Given the description of an element on the screen output the (x, y) to click on. 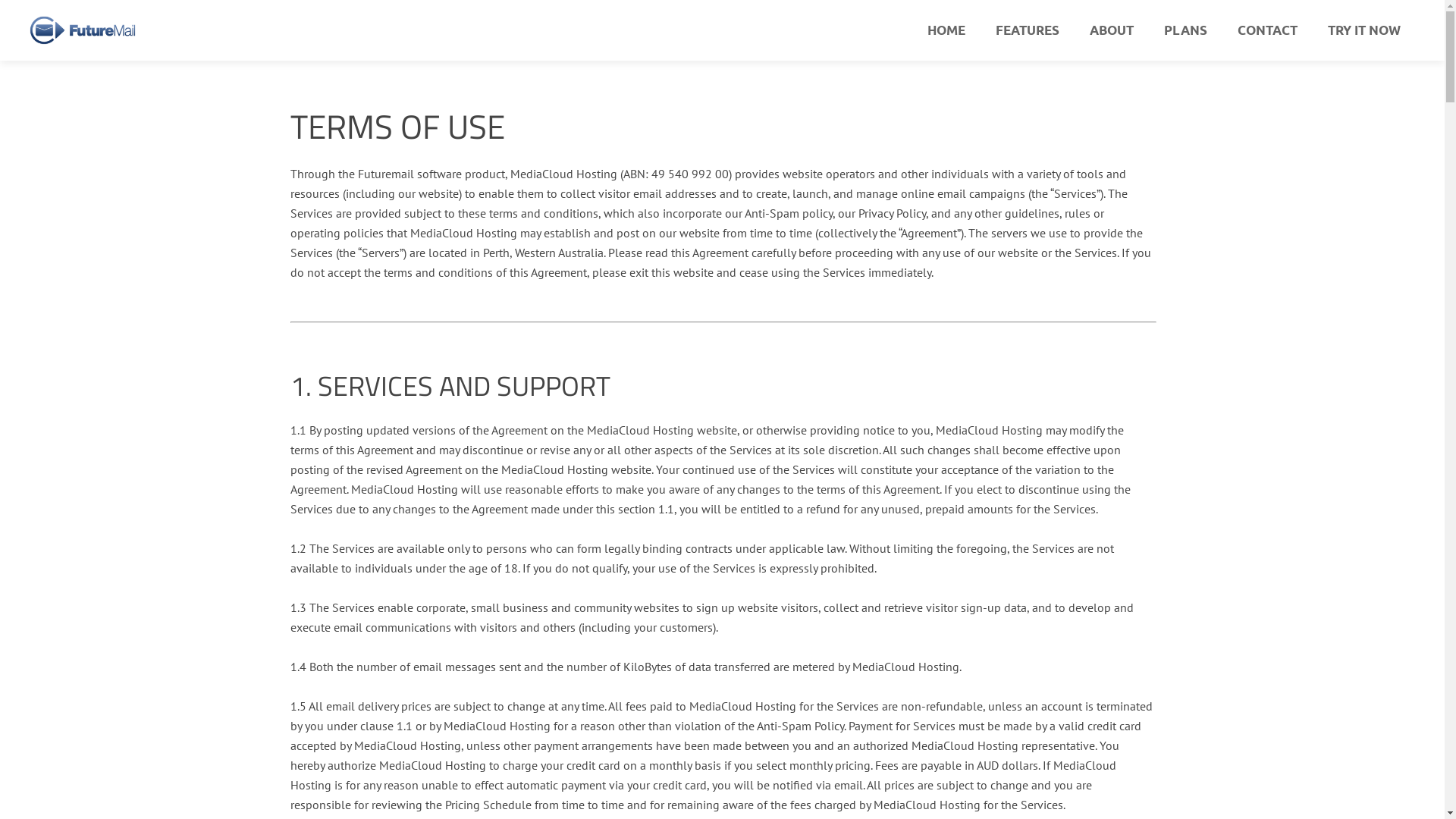
MediaCloud Hosting Element type: text (422, 575)
Cloud Hosting Element type: text (422, 636)
WordPress Hosting Element type: text (422, 666)
Content Delivery Network Element type: text (422, 696)
Features Element type: text (1021, 605)
Cloud Servers Element type: text (422, 605)
support@futuremail.com.au Element type: text (690, 689)
HOME Element type: text (946, 30)
Home Element type: text (1021, 575)
CONTACT Element type: text (1267, 30)
TRY IT NOW Element type: text (1363, 30)
ABOUT Element type: text (1111, 30)
About Element type: text (1021, 636)
sales@futuremail.com.au Element type: text (683, 669)
Try It Now Element type: text (1021, 727)
Plans Element type: text (1021, 666)
PLANS Element type: text (1185, 30)
FEATURES Element type: text (1027, 30)
Documentation and Guides Element type: text (687, 716)
Contact Element type: text (1021, 696)
